Given the description of an element on the screen output the (x, y) to click on. 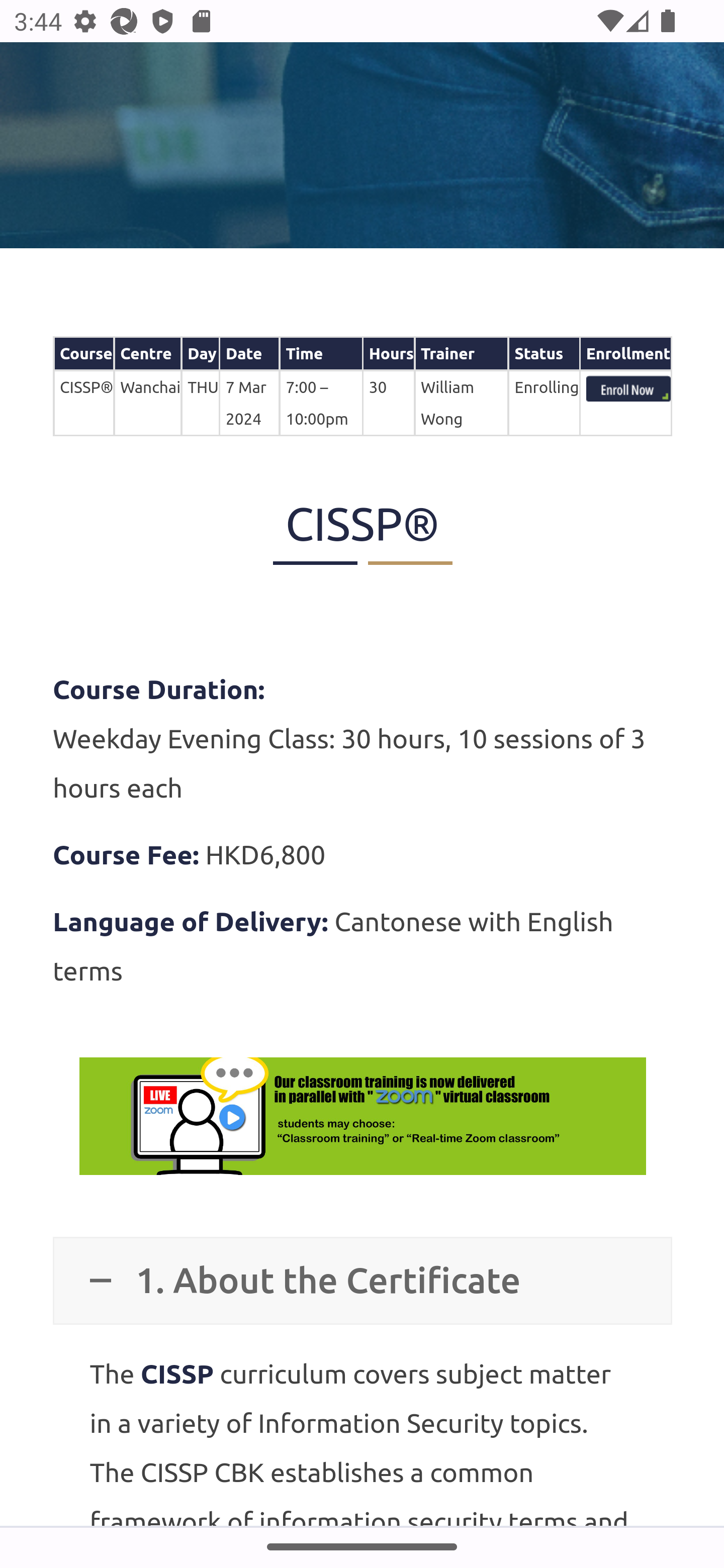
index (627, 390)
